Given the description of an element on the screen output the (x, y) to click on. 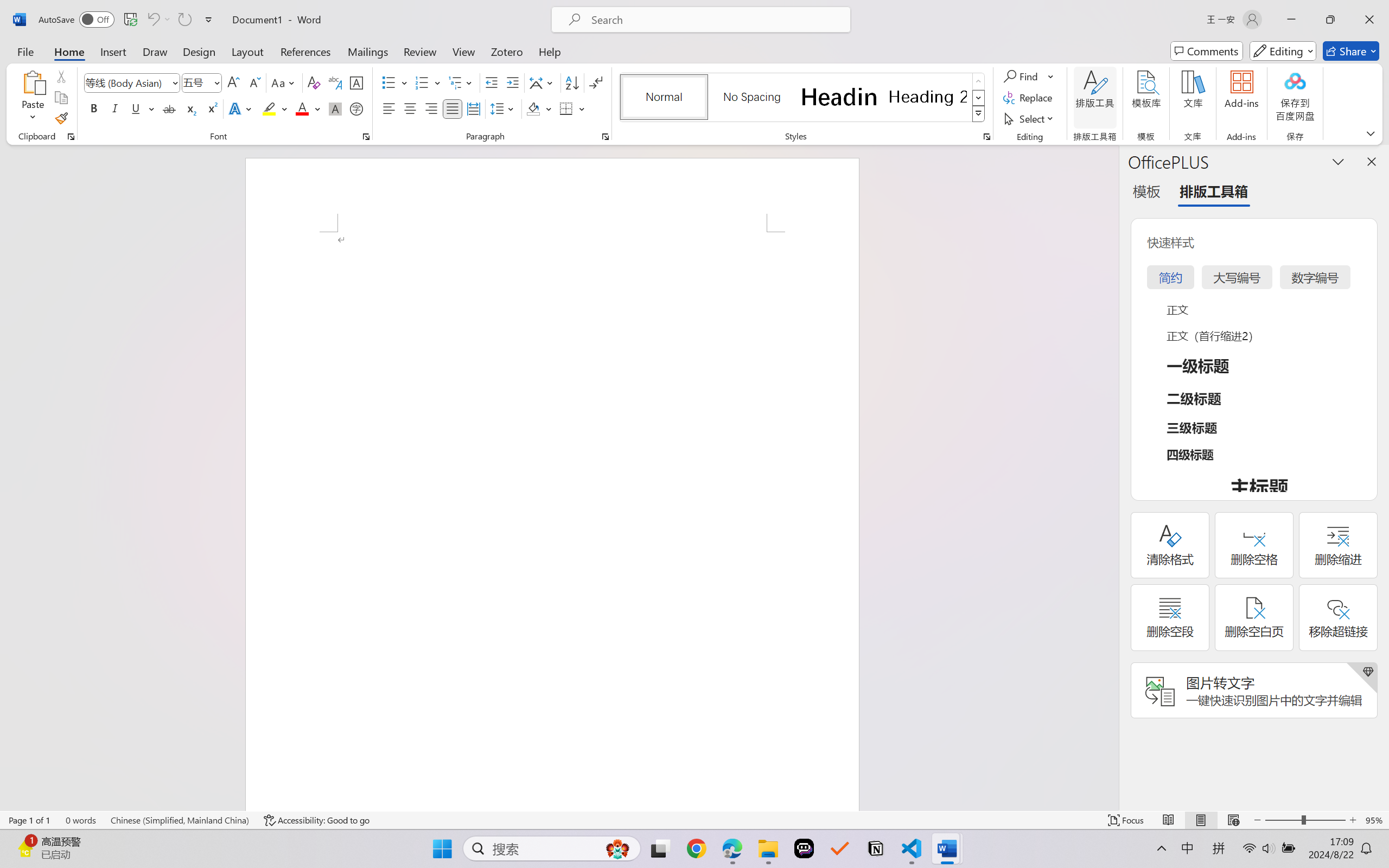
Zoom 95% (1374, 819)
